Given the description of an element on the screen output the (x, y) to click on. 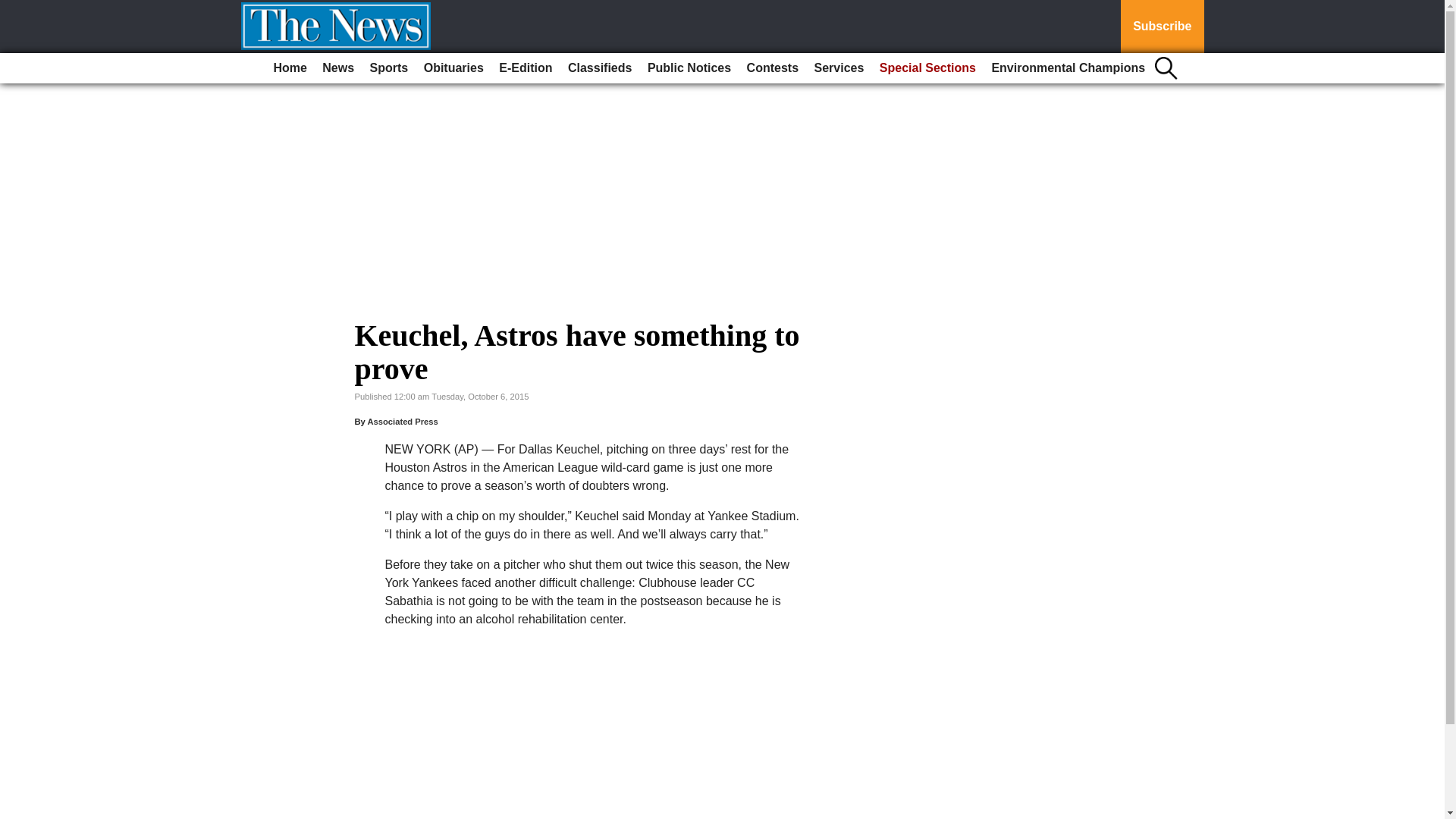
Obituaries (453, 68)
News (337, 68)
Subscribe (1162, 26)
Special Sections (927, 68)
Associated Press (402, 420)
Contests (773, 68)
Go (13, 9)
Environmental Champions (1068, 68)
Home (289, 68)
Public Notices (689, 68)
E-Edition (525, 68)
Sports (389, 68)
Services (839, 68)
Classifieds (599, 68)
